Given the description of an element on the screen output the (x, y) to click on. 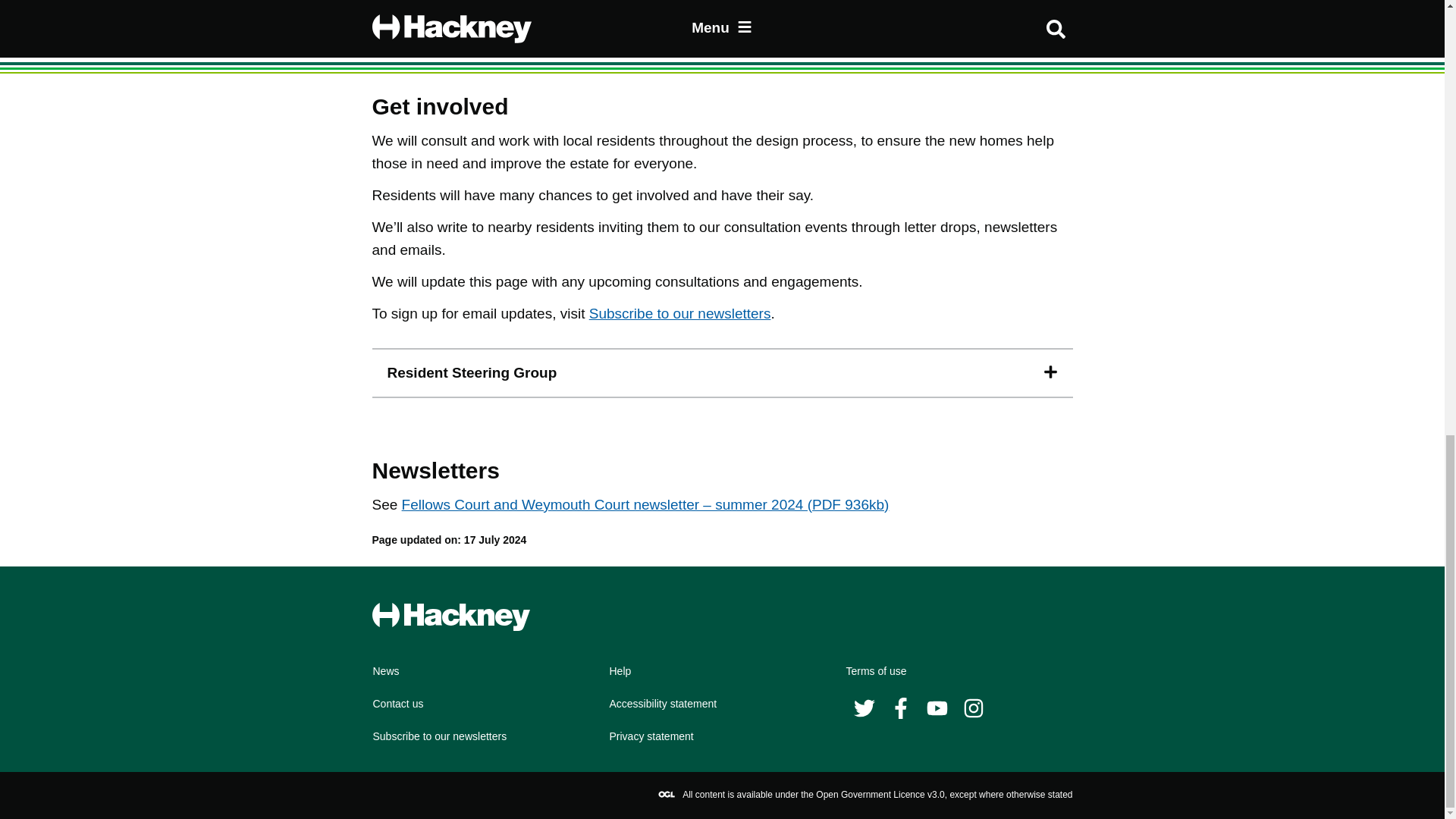
Accessibility statement (663, 703)
Subscribe to our newsletters (680, 313)
Terms of use (876, 671)
Privacy statement (652, 736)
Exigere (506, 3)
Subscribe to our newsletters (439, 736)
Contact us (397, 703)
XCO2 (661, 44)
HTA Planning (551, 22)
Help (620, 671)
